Given the description of an element on the screen output the (x, y) to click on. 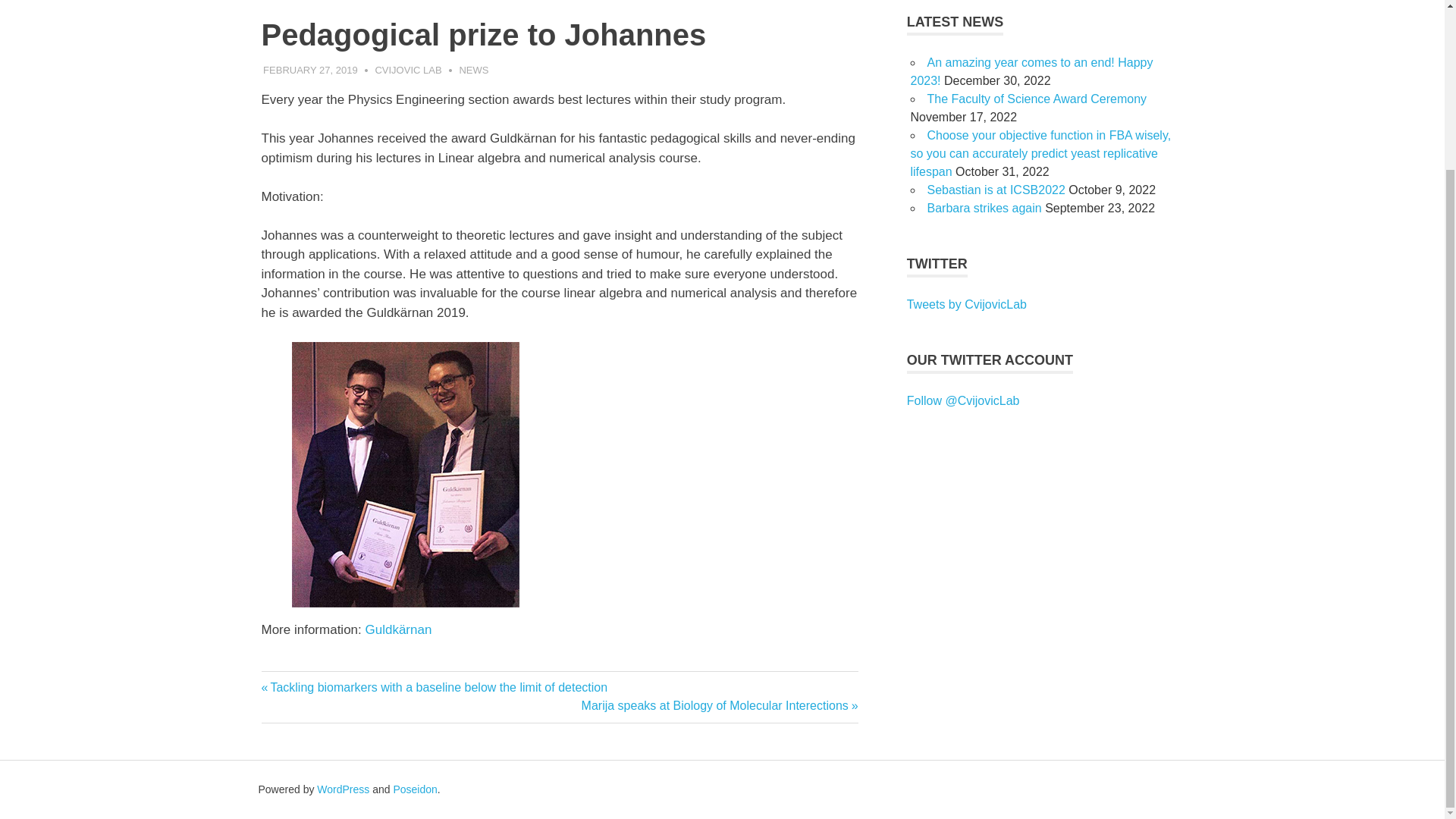
View all posts by Cvijovic Lab (407, 70)
Barbara strikes again (983, 207)
FEBRUARY 27, 2019 (310, 70)
An amazing year comes to an end! Happy 2023! (1031, 71)
The Faculty of Science Award Ceremony (1036, 98)
1:14 pm (310, 70)
Sebastian is at ICSB2022 (995, 189)
